Given the description of an element on the screen output the (x, y) to click on. 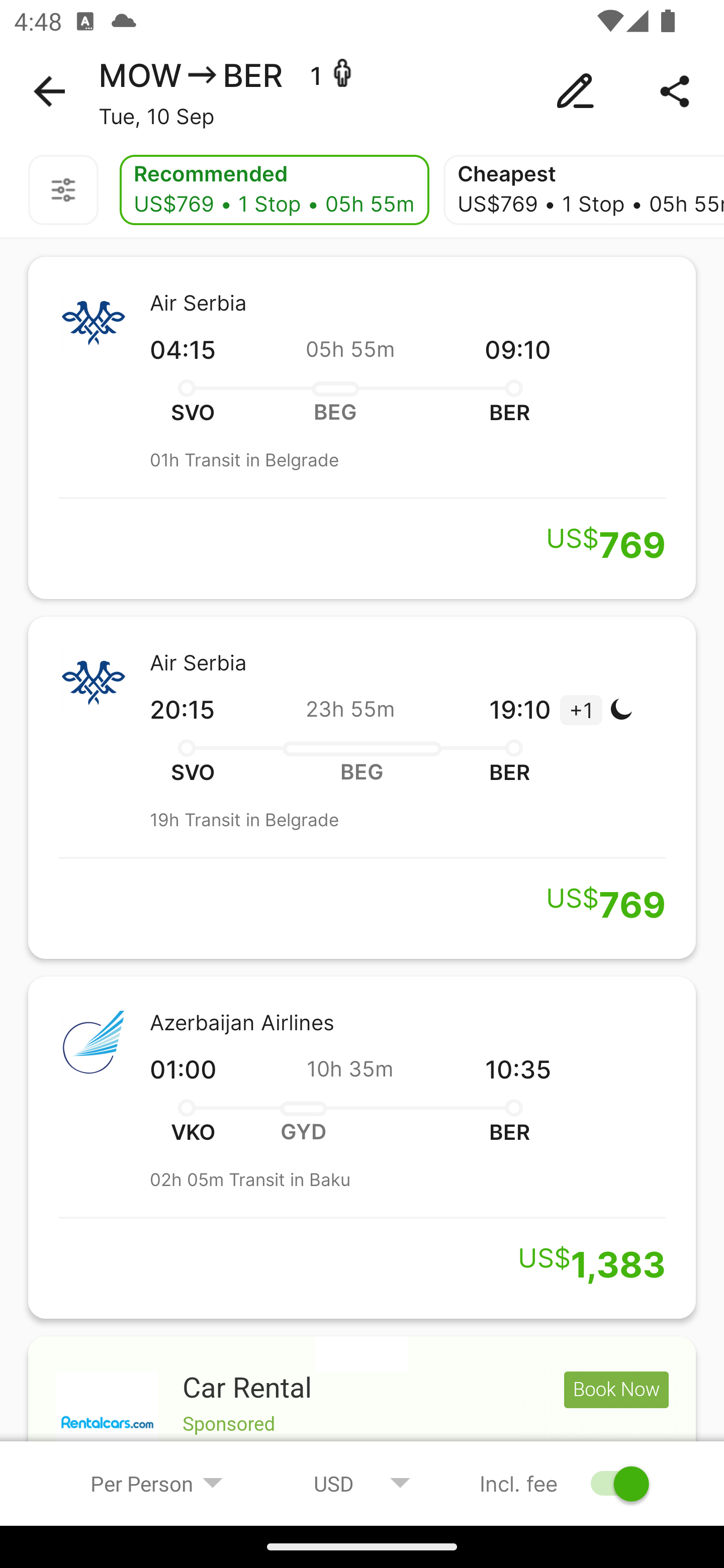
MOW BER   1 - Tue, 10 Sep (361, 91)
Recommended  US$769 • 1 Stop • 05h 55m (274, 190)
Cheapest US$769 • 1 Stop • 05h 55m (583, 190)
Per Person (156, 1482)
USD (361, 1482)
